Given the description of an element on the screen output the (x, y) to click on. 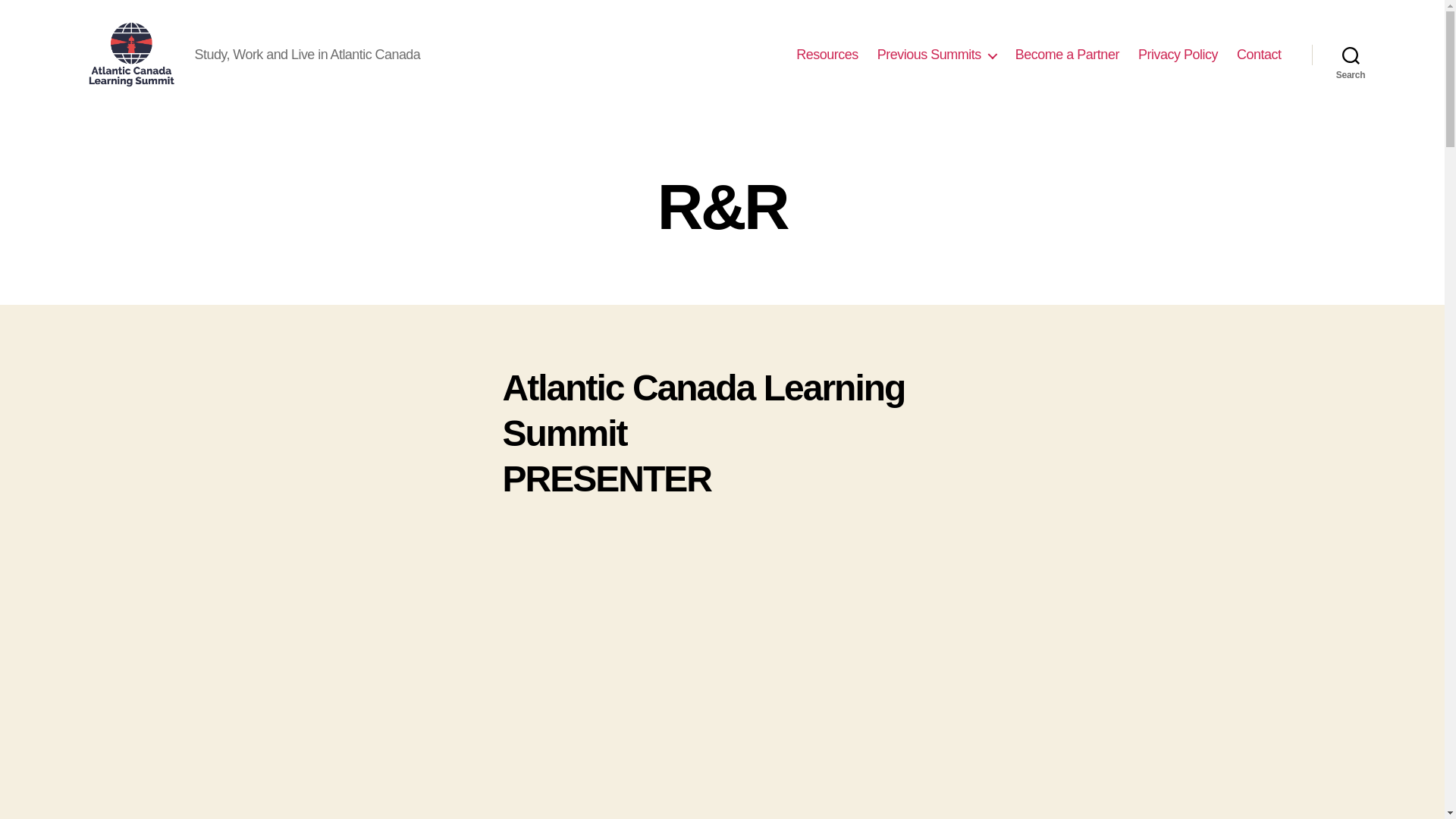
Resources (827, 54)
Become a Partner (1066, 54)
Contact (1258, 54)
Previous Summits (936, 54)
Search (1350, 55)
Privacy Policy (1177, 54)
